Given the description of an element on the screen output the (x, y) to click on. 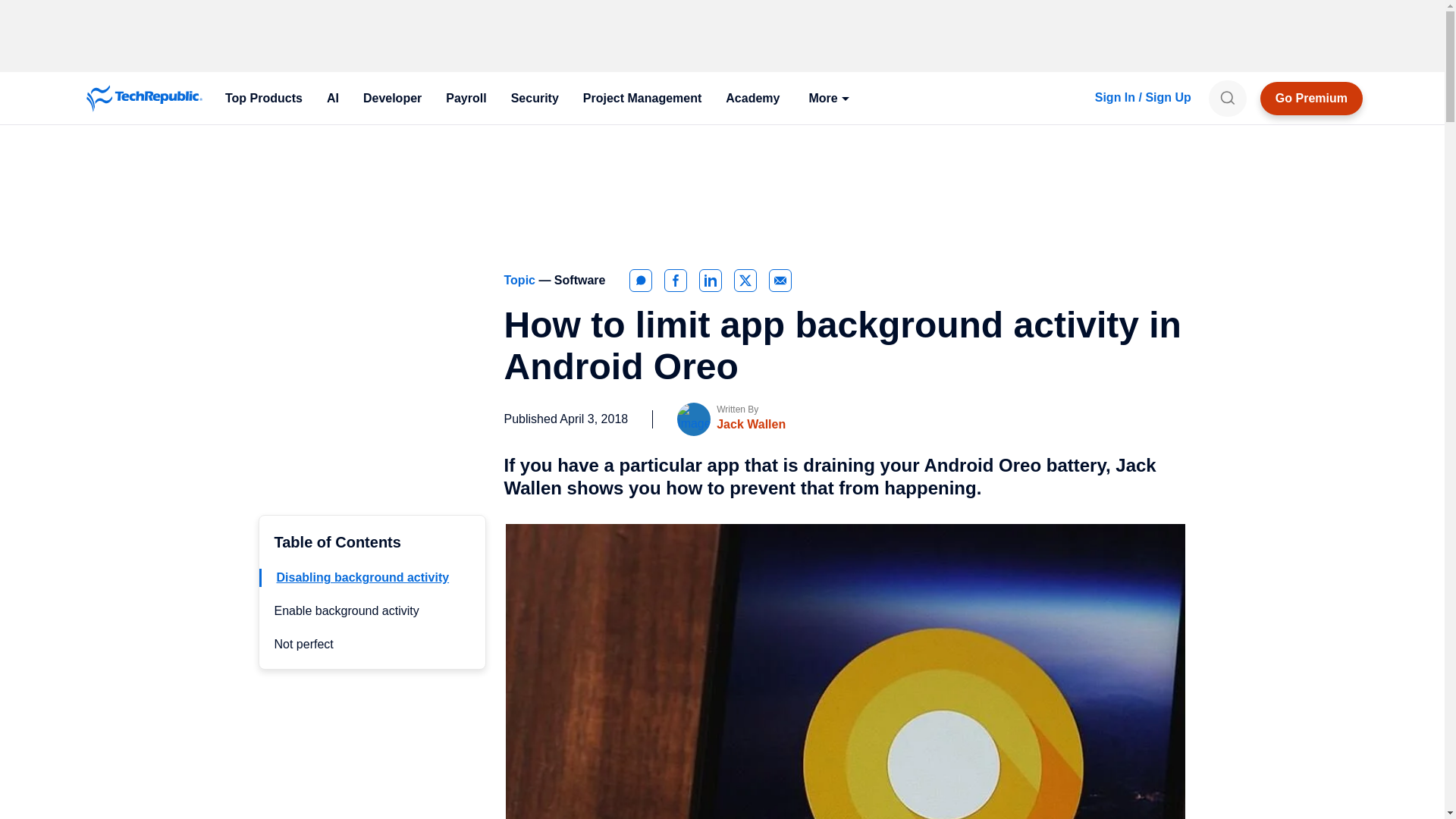
Academy (752, 98)
TechRepublic (143, 98)
Disabling background activity (362, 576)
Not perfect (304, 644)
Topic (520, 279)
Top Products (263, 98)
Security (534, 98)
Go Premium (1311, 98)
TechRepublic (143, 98)
TechRepublic Premium (1311, 98)
